Given the description of an element on the screen output the (x, y) to click on. 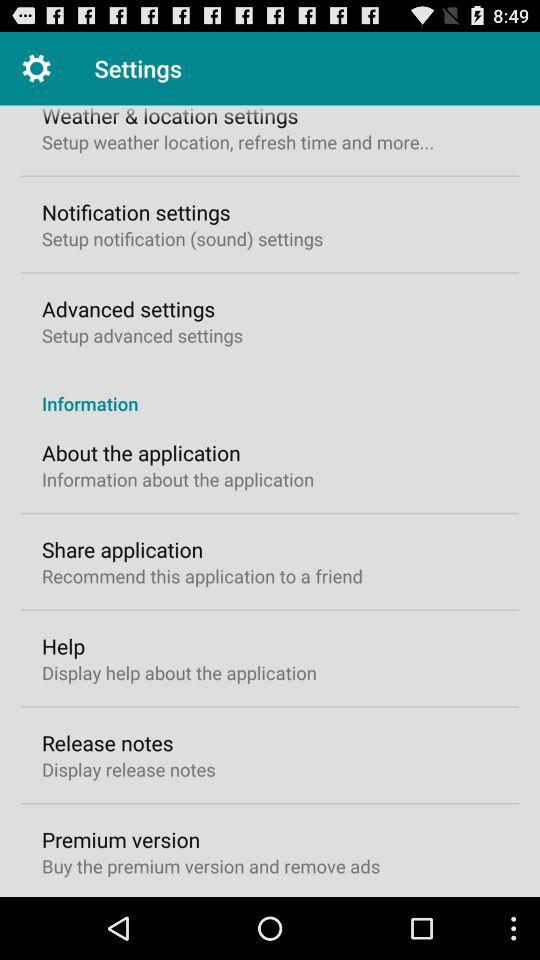
turn off the share application icon (122, 549)
